Given the description of an element on the screen output the (x, y) to click on. 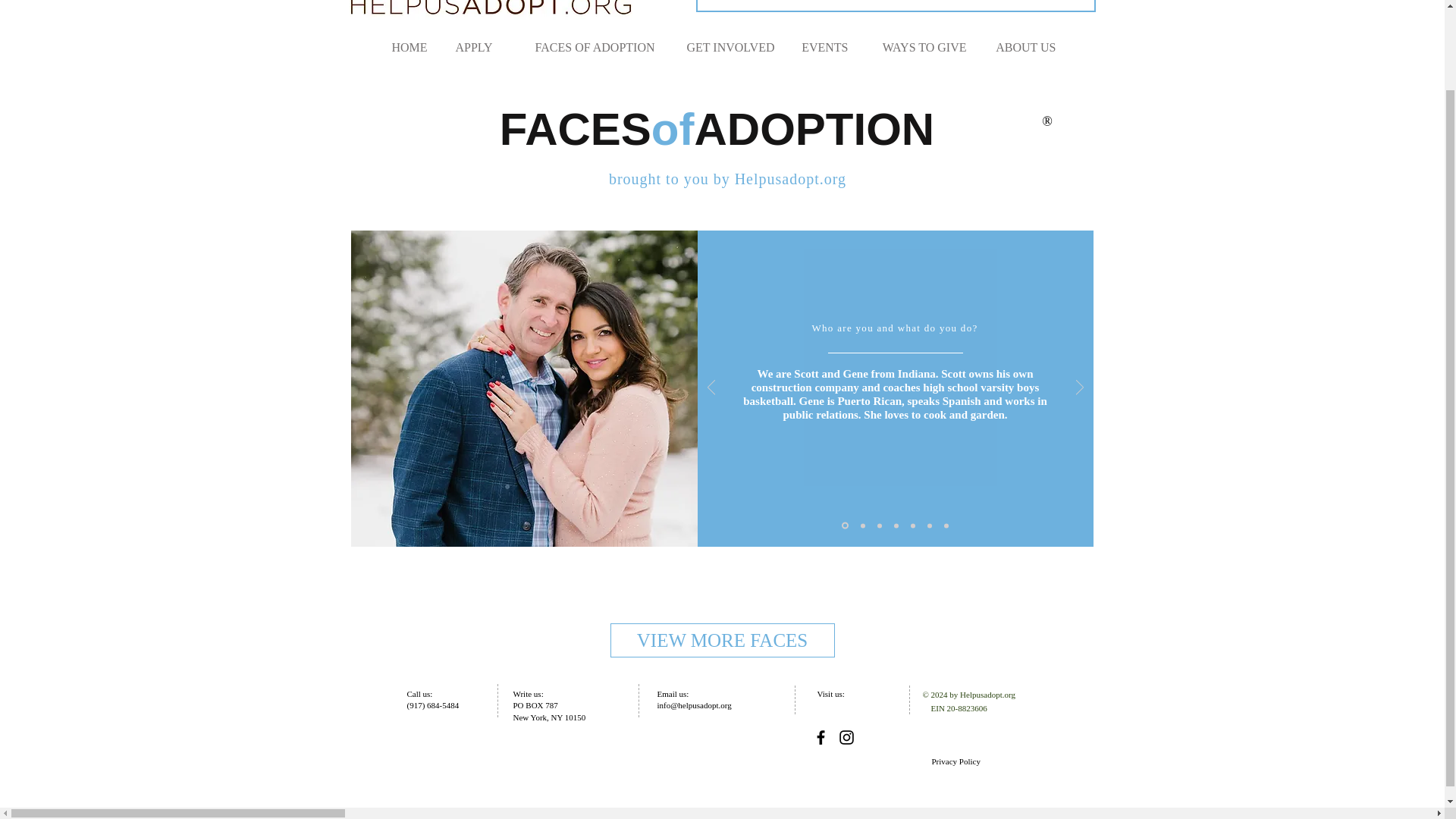
HOME (408, 46)
EVENTS (822, 46)
APPLY (470, 46)
WAYS TO GIVE (919, 46)
GET INVOLVED (725, 46)
ADOPTION: WHERE DO I START? (895, 6)
FACES OF ADOPTION (584, 46)
ABOUT US (1022, 46)
